Given the description of an element on the screen output the (x, y) to click on. 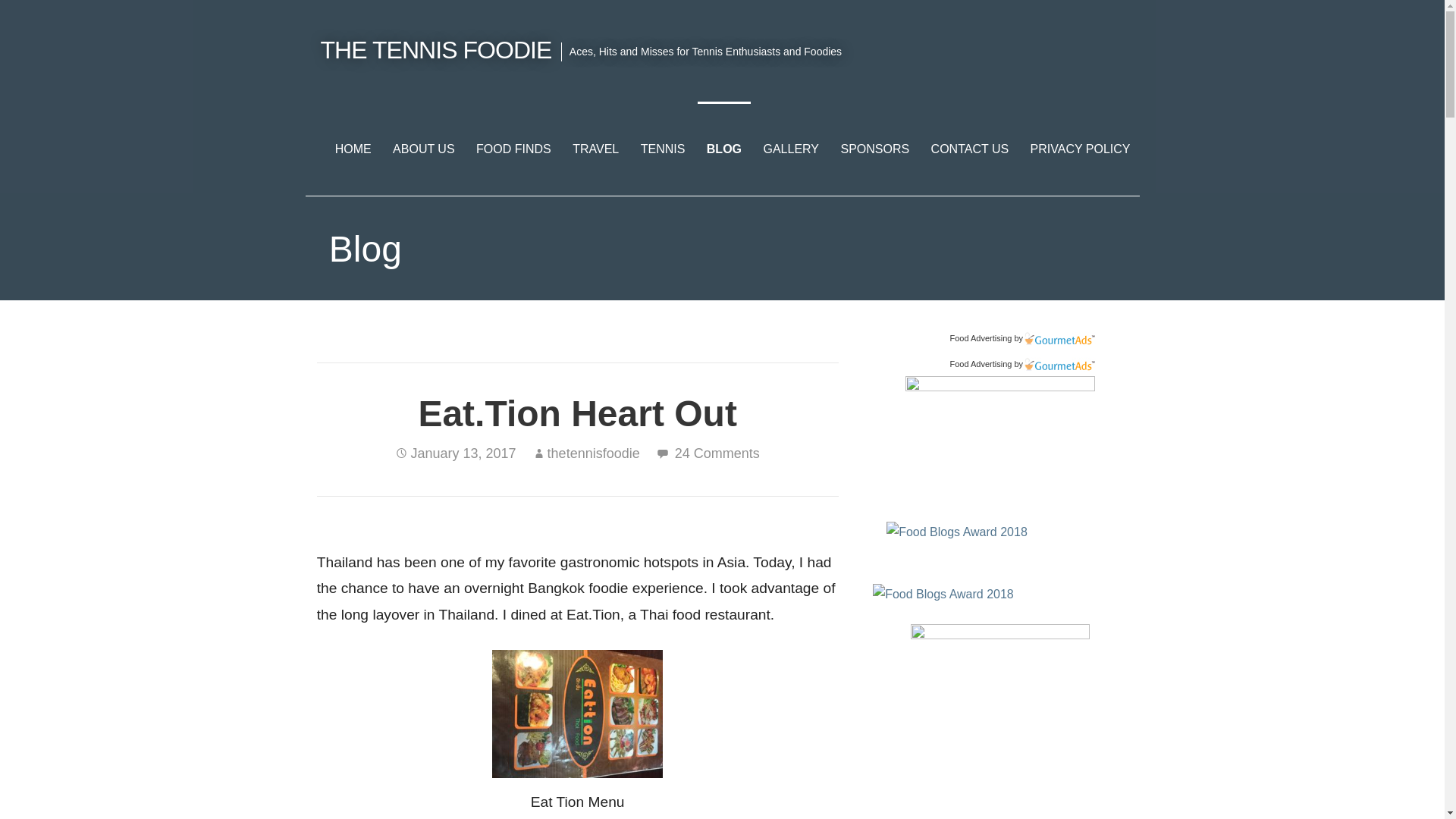
THE TENNIS FOODIE (435, 49)
PRIVACY POLICY (1081, 148)
24 Comments (717, 453)
Food Blogs Award 2018 (942, 594)
SPONSORS (874, 148)
FOOD FINDS (513, 148)
thetennisfoodie (593, 453)
Posts by thetennisfoodie (593, 453)
Food Advertising (980, 338)
CONTACT US (969, 148)
Food Advertising (980, 363)
